Given the description of an element on the screen output the (x, y) to click on. 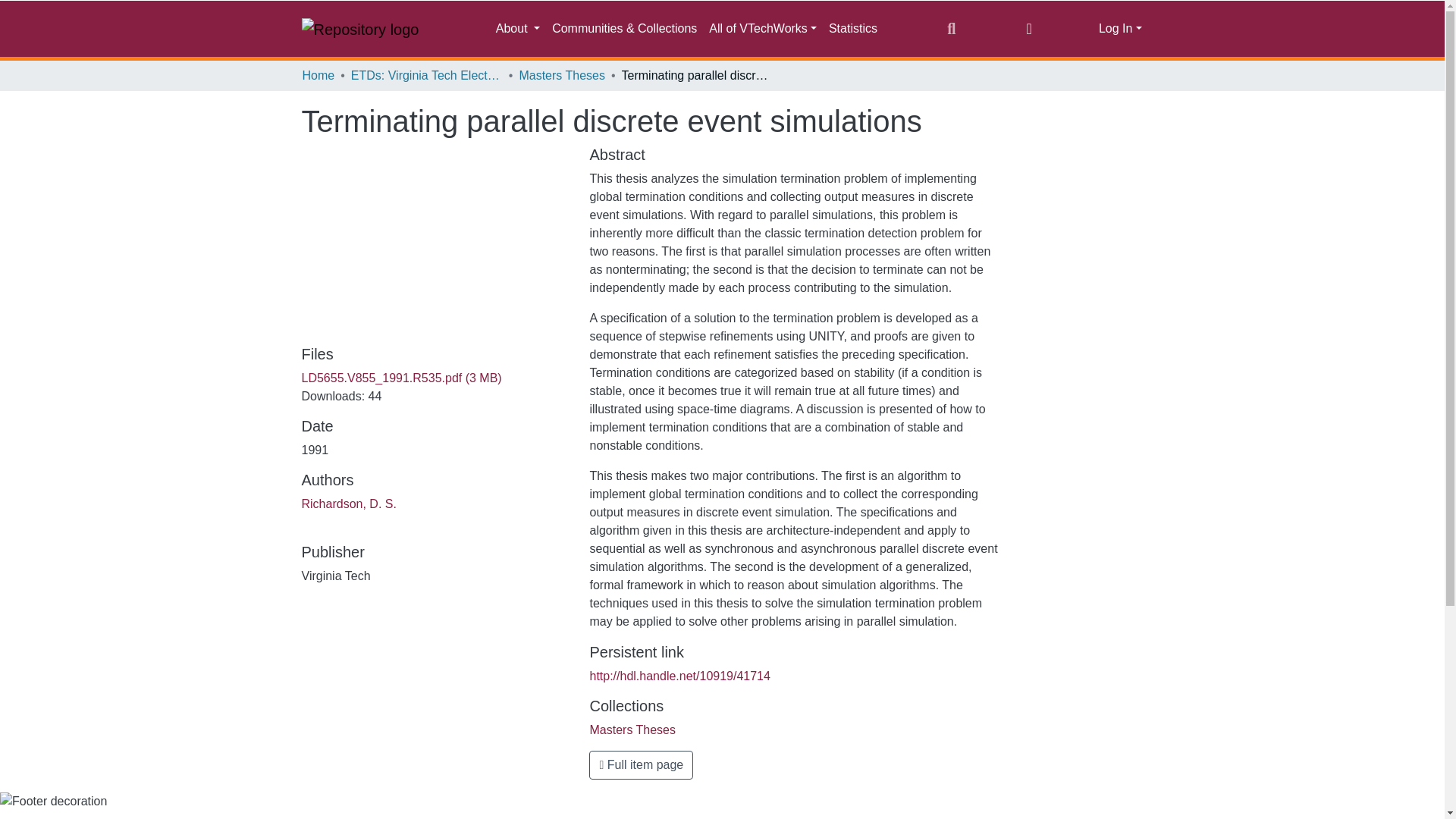
Search (951, 28)
Masters Theses (561, 75)
About (517, 28)
Full item page (641, 765)
Richardson, D. S. (348, 503)
Statistics (852, 28)
Masters Theses (632, 729)
All of VTechWorks (762, 28)
ETDs: Virginia Tech Electronic Theses and Dissertations (426, 75)
Home (317, 75)
